Given the description of an element on the screen output the (x, y) to click on. 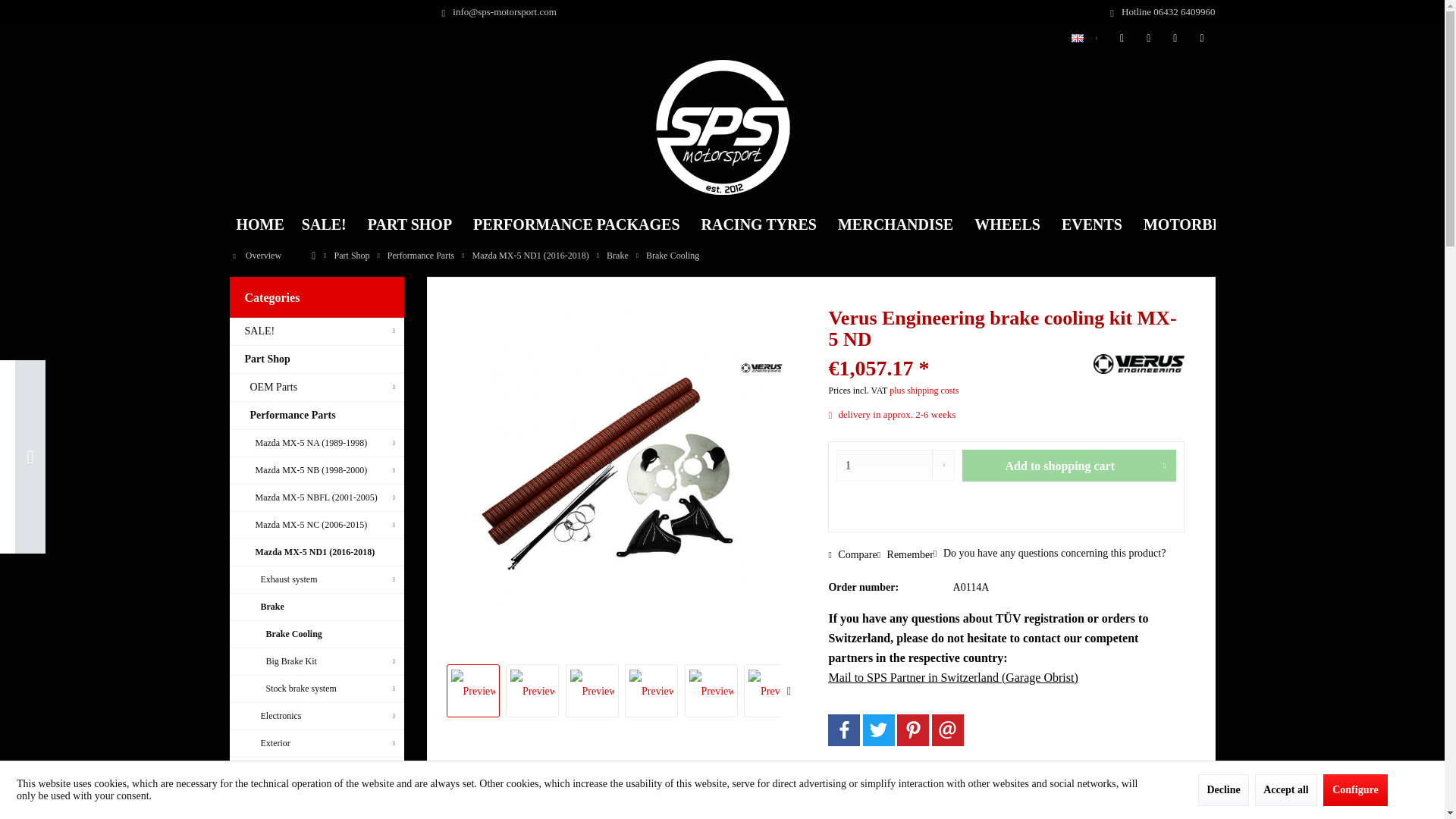
SALE! (323, 224)
GALLERY (1304, 224)
MERCHANDISE (895, 224)
SALE! (315, 331)
Overview (256, 255)
Customer account (1148, 38)
Part Shop (352, 255)
Home (258, 224)
MOTORBLOG (1194, 224)
MOTORBLOG (1194, 224)
RACING TYRES (758, 224)
Brake (616, 255)
Performance Parts (315, 415)
